Given the description of an element on the screen output the (x, y) to click on. 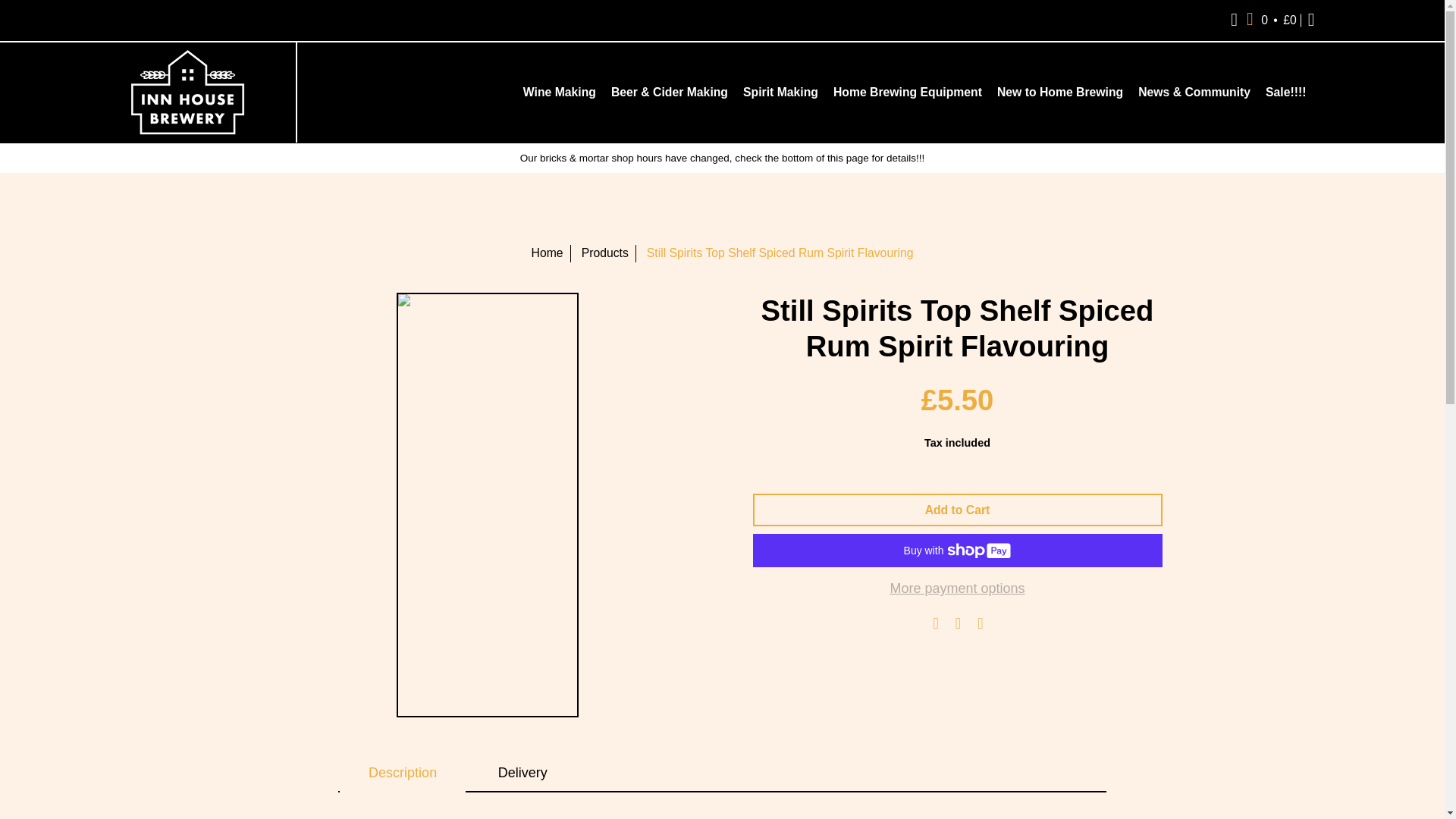
Spirit Making (780, 92)
Inn House Brewery (187, 92)
Add to Cart (956, 510)
Cart (1271, 20)
